Given the description of an element on the screen output the (x, y) to click on. 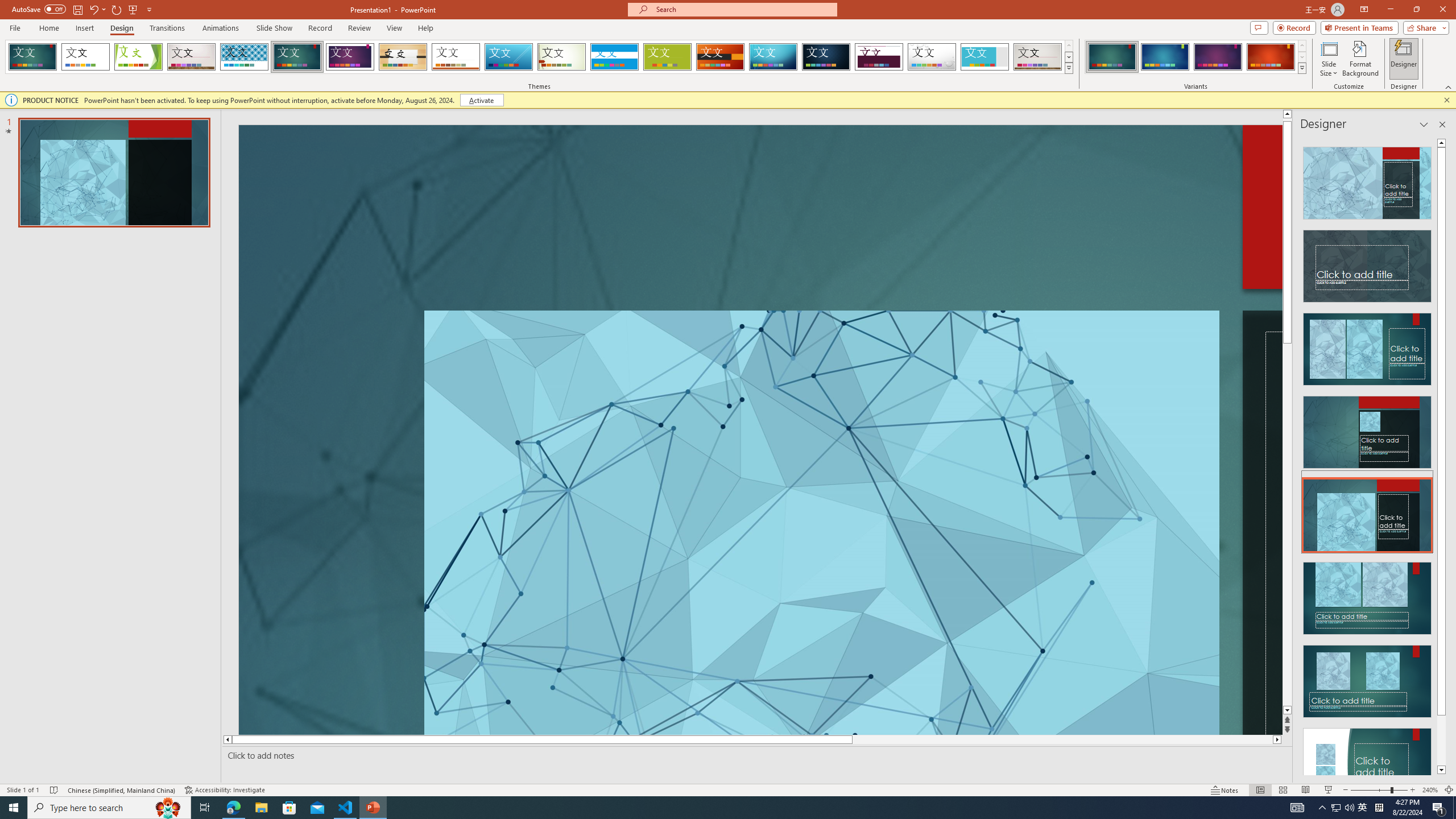
Wisp (561, 56)
Berlin (720, 56)
Ion (296, 56)
Circuit (772, 56)
Damask (826, 56)
